Given the description of an element on the screen output the (x, y) to click on. 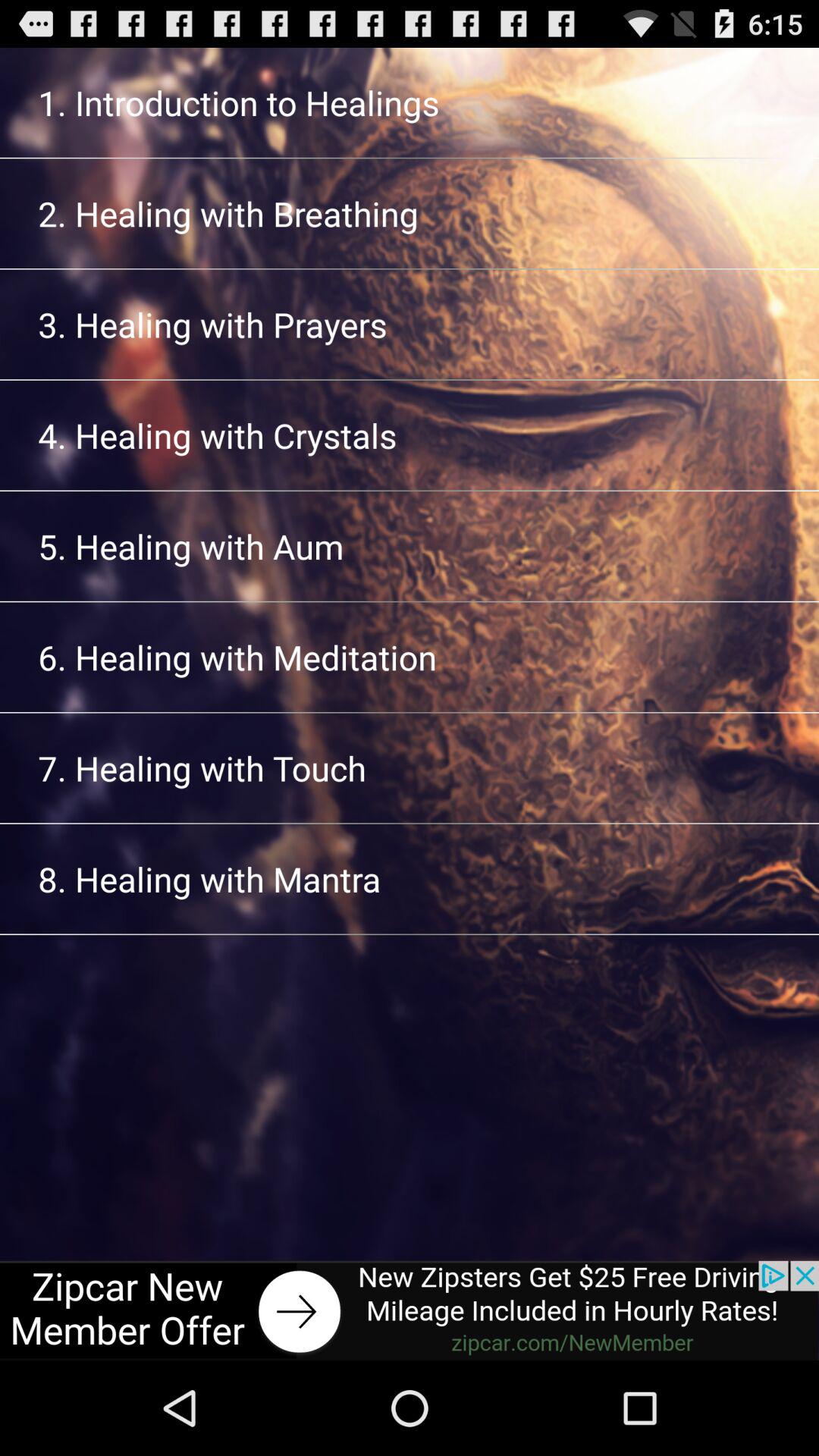
click to view advertisements options (409, 1310)
